Given the description of an element on the screen output the (x, y) to click on. 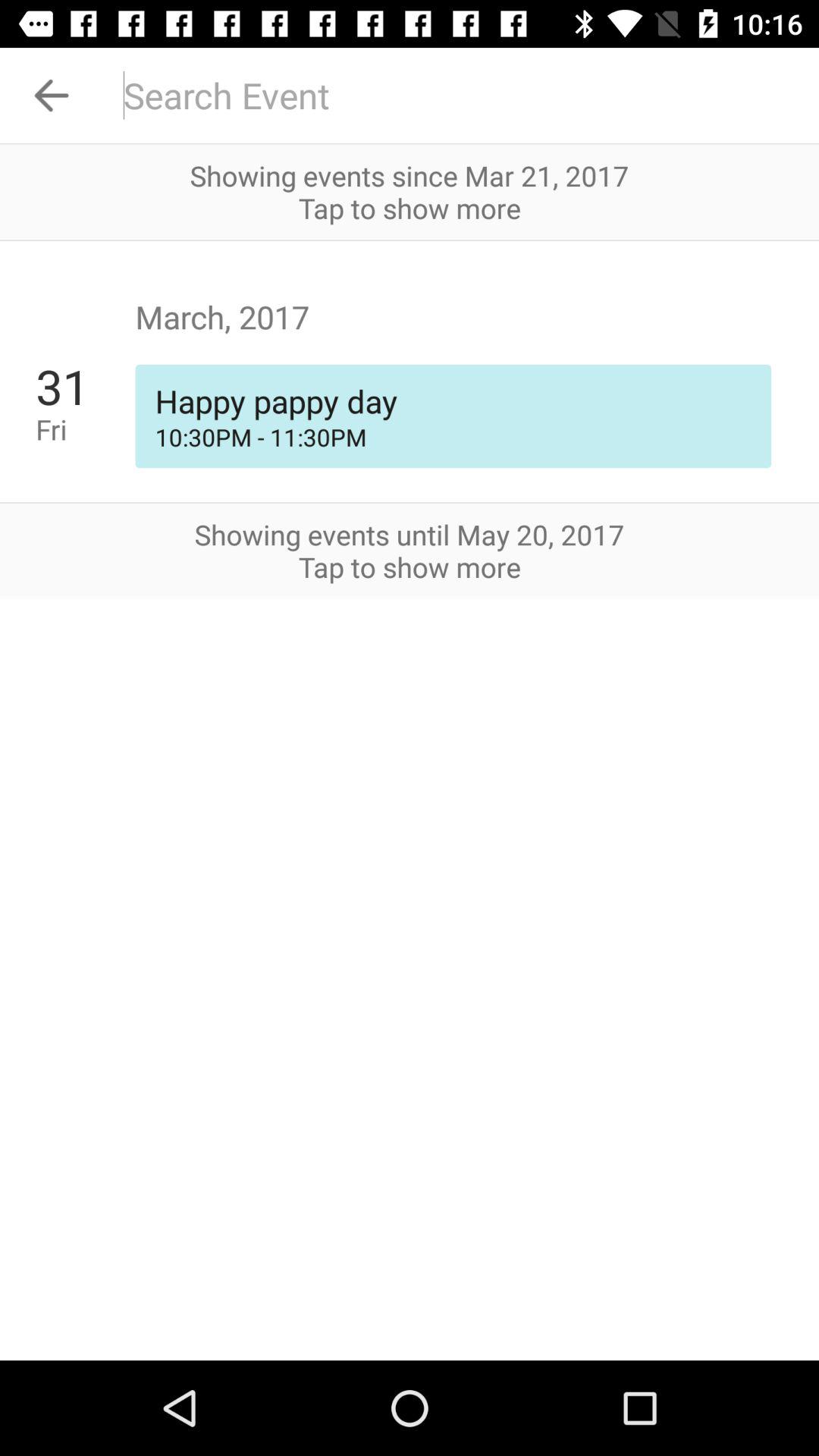
tap 10 30pm 11 item (453, 436)
